Given the description of an element on the screen output the (x, y) to click on. 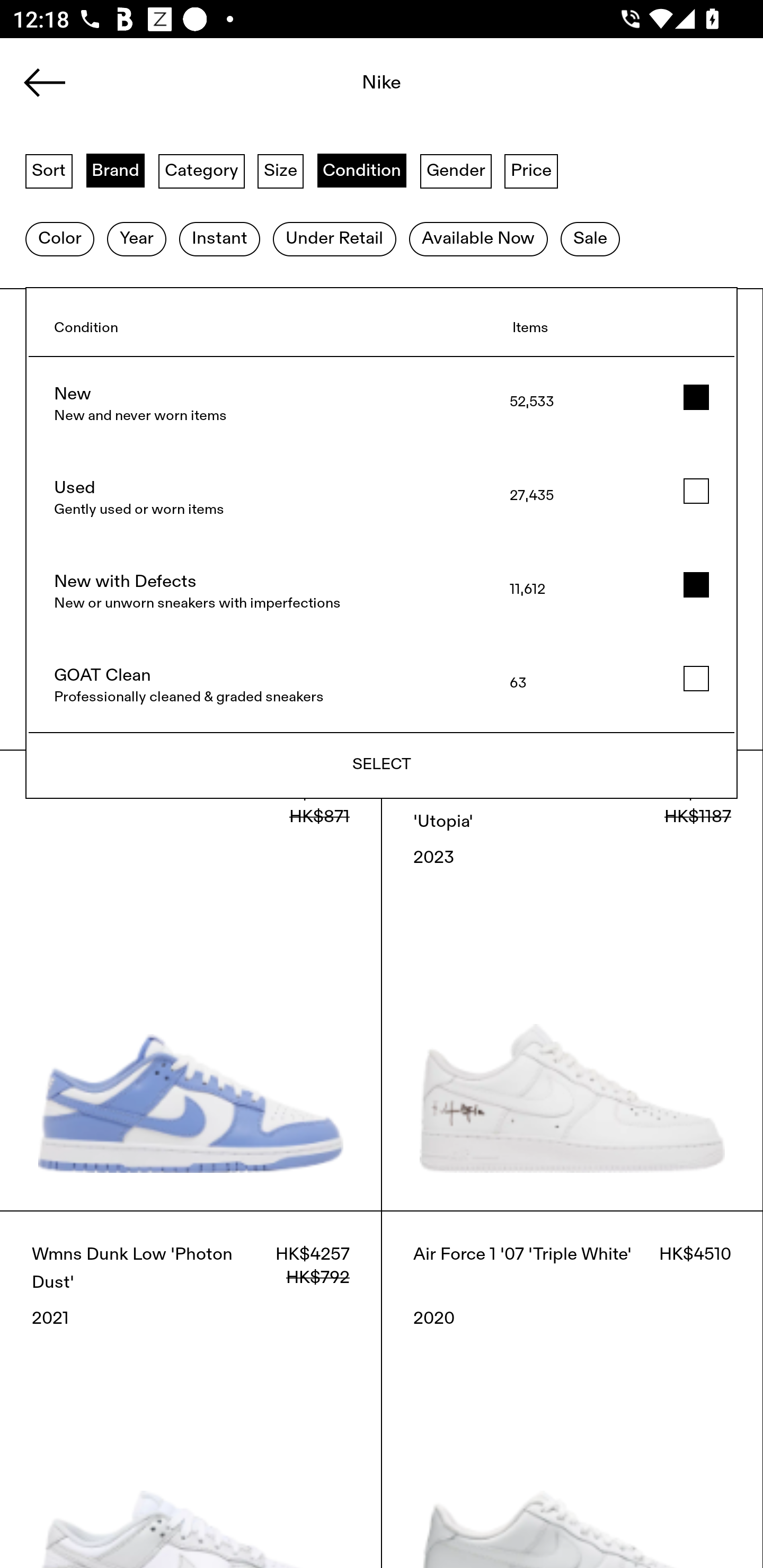
Sort (48, 170)
Brand (115, 170)
Category (201, 170)
Size (280, 170)
Condition (361, 170)
Gender (455, 170)
Price (530, 170)
Color (59, 239)
Year (136, 239)
Instant (219, 239)
Under Retail (334, 239)
Available Now (477, 239)
Sale (589, 239)
New New and never worn items 52,533 (381, 404)
Used Gently used or worn items 27,435 (381, 497)
Newly Released (381, 765)
Dunk Low 'Polar Blue' HK$4573 HK$871 (190, 979)
Wmns Dunk Low 'Photon Dust' HK$4257 HK$792 2021 (190, 1389)
Air Force 1 '07 'Triple White' HK$4510 2020 (572, 1389)
